Given the description of an element on the screen output the (x, y) to click on. 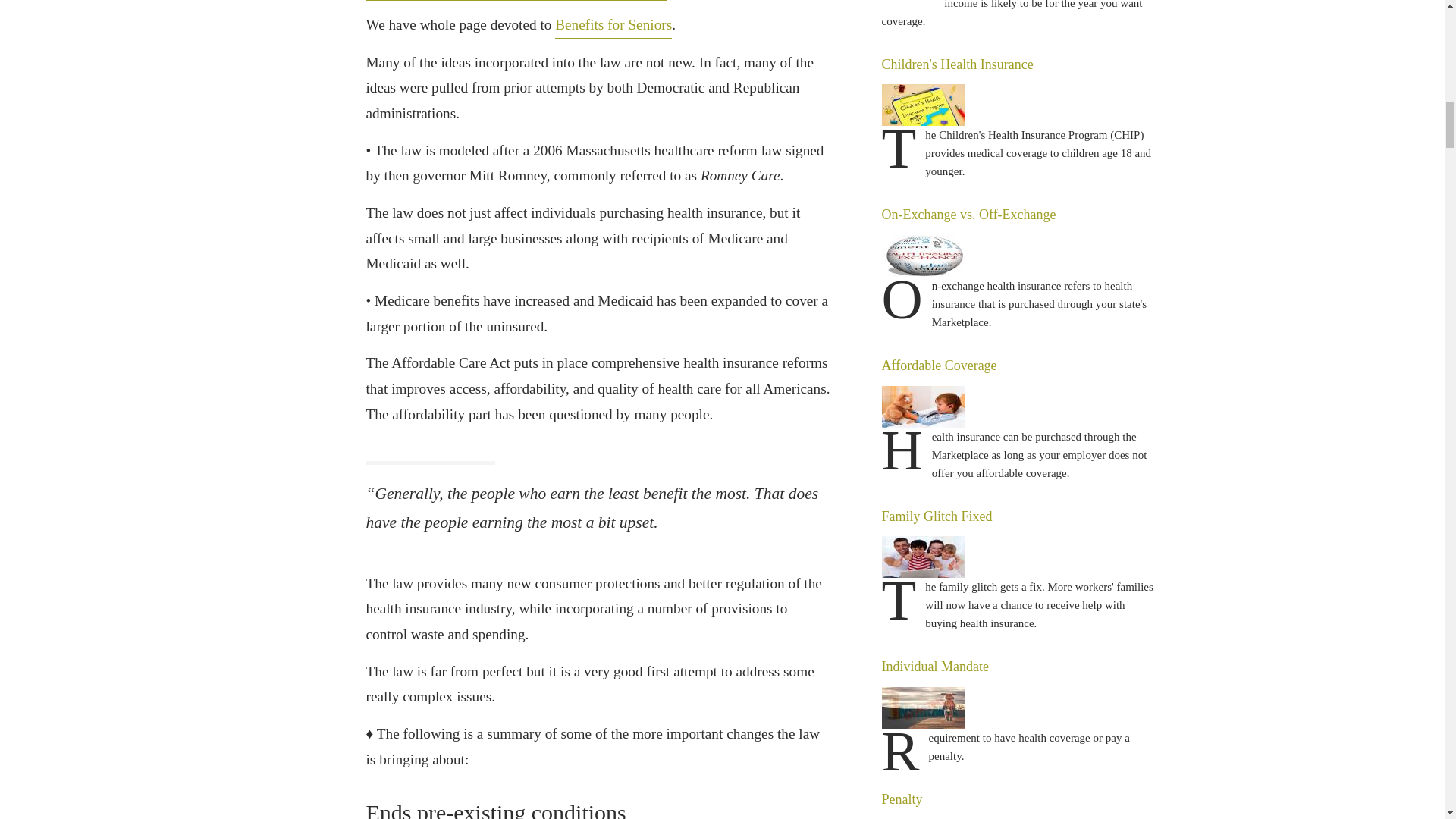
Benefits for Seniors (612, 25)
Benefits for Seniors (612, 25)
